Given the description of an element on the screen output the (x, y) to click on. 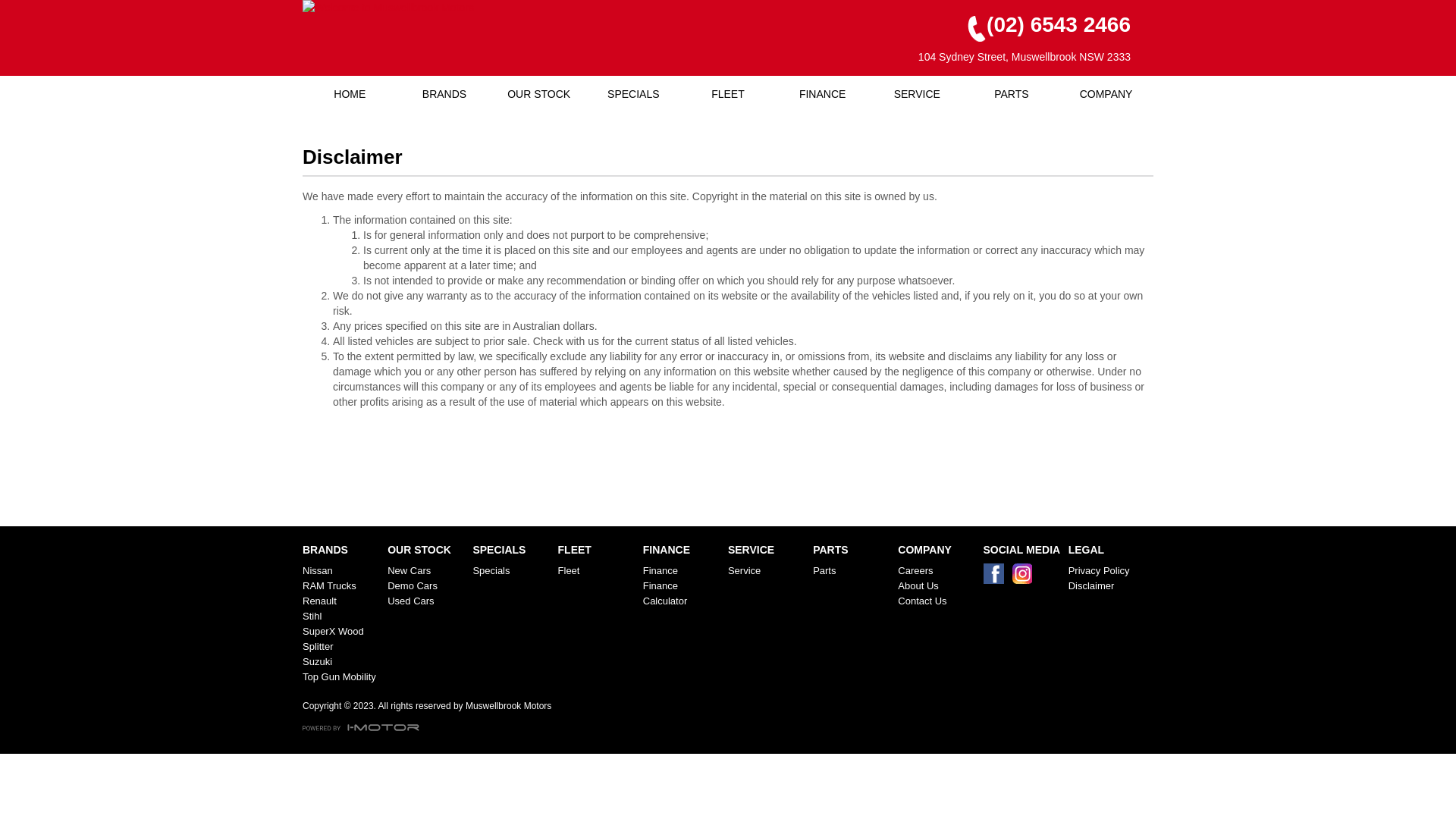
Parts Element type: text (851, 570)
Used Cars Element type: text (426, 600)
PARTS Element type: text (1011, 93)
FLEET Element type: text (727, 93)
COMPANY Element type: text (1105, 93)
SPECIALS Element type: text (633, 93)
Finance Calculator Element type: text (682, 593)
Stihl Element type: text (341, 616)
SERVICE Element type: text (916, 93)
SuperX Wood Splitter Element type: text (341, 639)
Finance Element type: text (682, 570)
facebook Element type: text (996, 577)
FINANCE Element type: text (822, 93)
Nissan Element type: text (341, 570)
Careers Element type: text (936, 570)
Fleet Element type: text (597, 570)
Renault Element type: text (341, 600)
(02) 6543 2466 Element type: text (1042, 25)
Disclaimer Element type: text (1107, 585)
Suzuki Element type: text (341, 661)
instagram Element type: text (1025, 577)
Privacy Policy Element type: text (1107, 570)
Top Gun Mobility Element type: text (341, 676)
BRANDS Element type: text (444, 93)
RAM Trucks Element type: text (341, 585)
Demo Cars Element type: text (426, 585)
Service Element type: text (767, 570)
New Cars Element type: text (426, 570)
Specials Element type: text (511, 570)
About Us Element type: text (936, 585)
OUR STOCK Element type: text (538, 93)
HOME Element type: text (349, 93)
Contact Us Element type: text (936, 600)
